Given the description of an element on the screen output the (x, y) to click on. 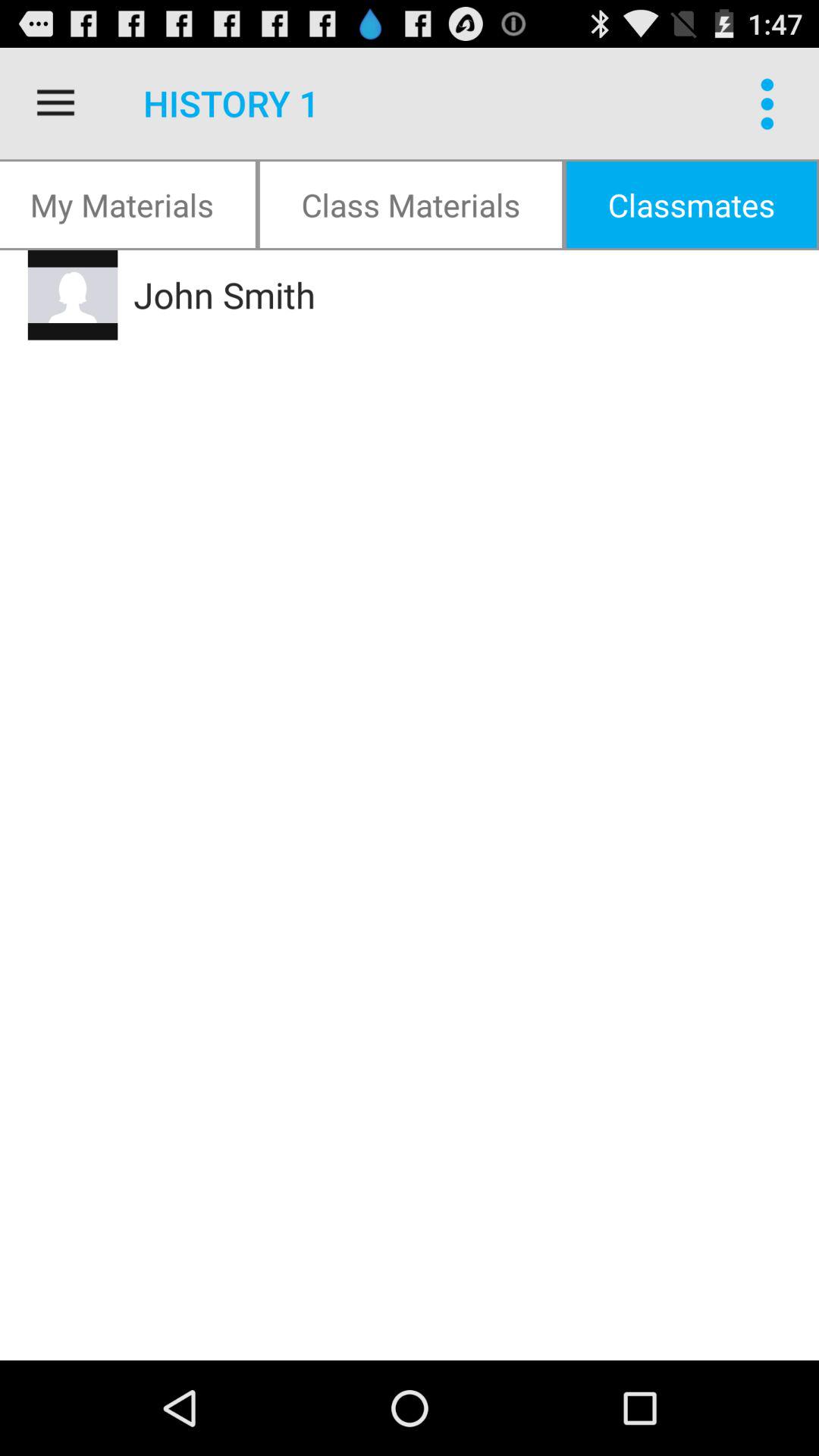
tap item below history 1 item (410, 204)
